Given the description of an element on the screen output the (x, y) to click on. 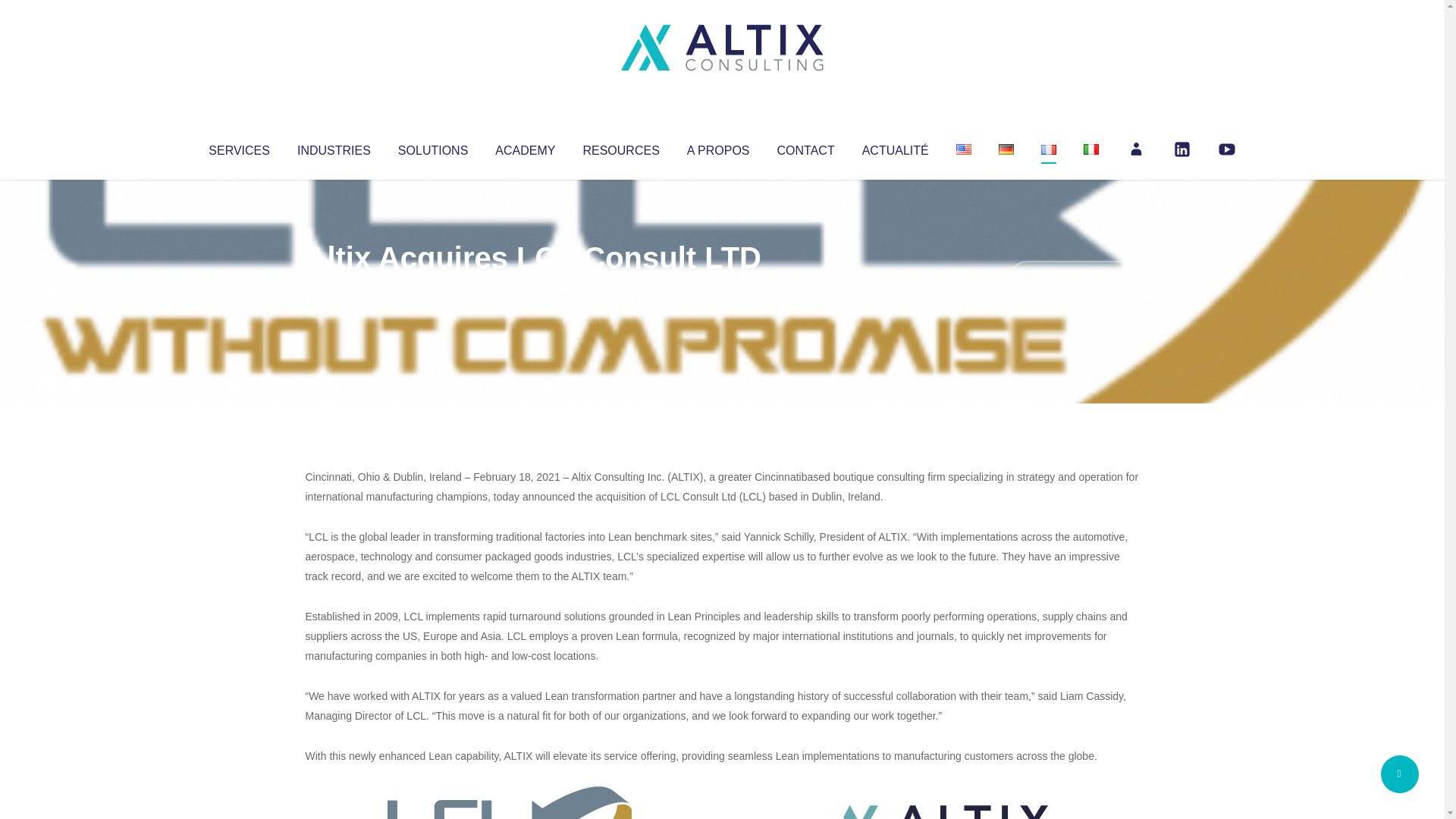
No Comments (1073, 278)
RESOURCES (620, 146)
Articles par Altix (333, 287)
ACADEMY (524, 146)
Altix (333, 287)
A PROPOS (718, 146)
SOLUTIONS (432, 146)
SERVICES (238, 146)
Uncategorized (530, 287)
INDUSTRIES (334, 146)
